Given the description of an element on the screen output the (x, y) to click on. 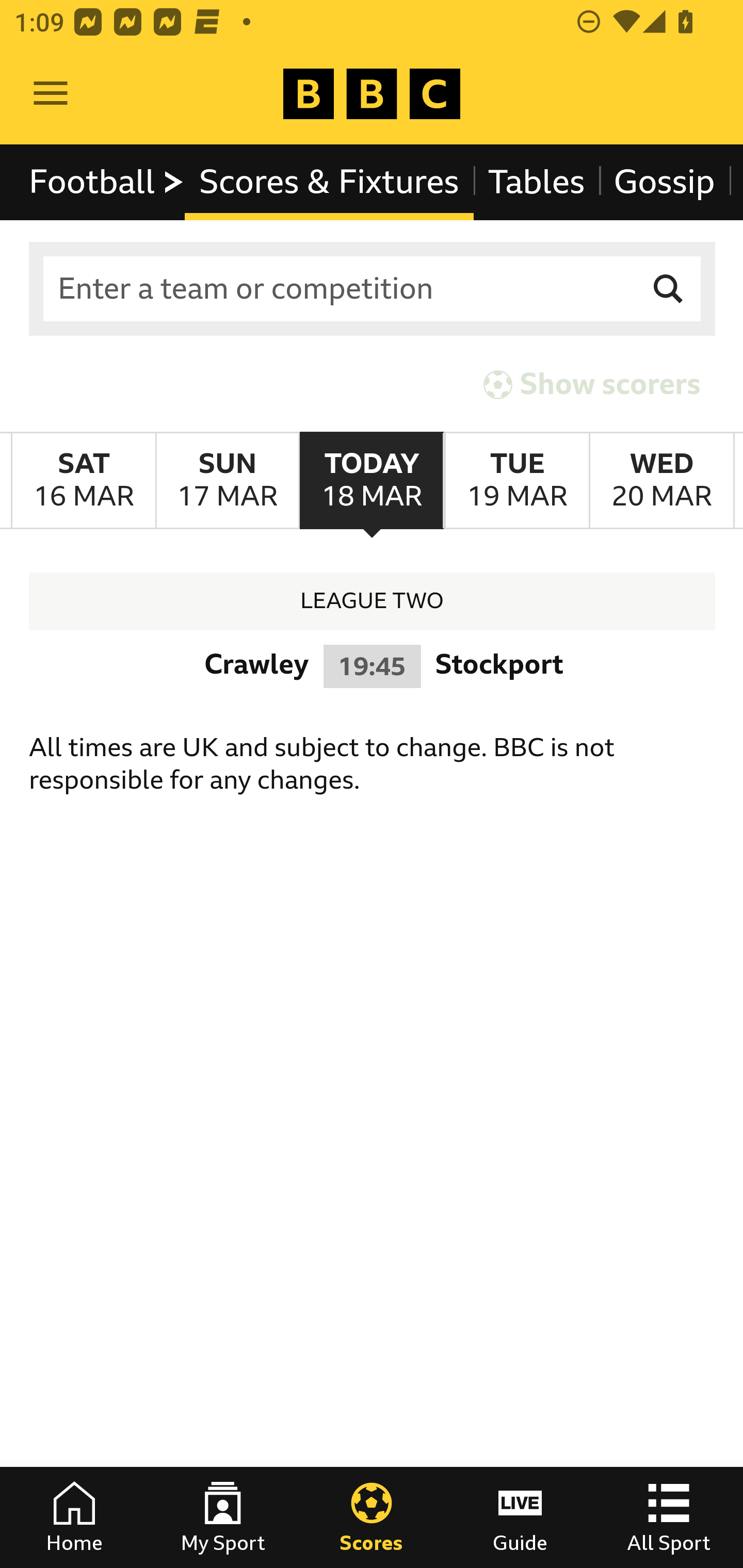
Open Menu (50, 93)
Football  (106, 181)
Scores & Fixtures (329, 181)
Tables (536, 181)
Gossip (664, 181)
Search (669, 289)
Show scorers (591, 383)
SaturdayMarch 16th Saturday March 16th (83, 480)
SundayMarch 17th Sunday March 17th (227, 480)
TuesdayMarch 19th Tuesday March 19th (516, 480)
WednesdayMarch 20th Wednesday March 20th (661, 480)
Home (74, 1517)
My Sport (222, 1517)
Guide (519, 1517)
All Sport (668, 1517)
